Given the description of an element on the screen output the (x, y) to click on. 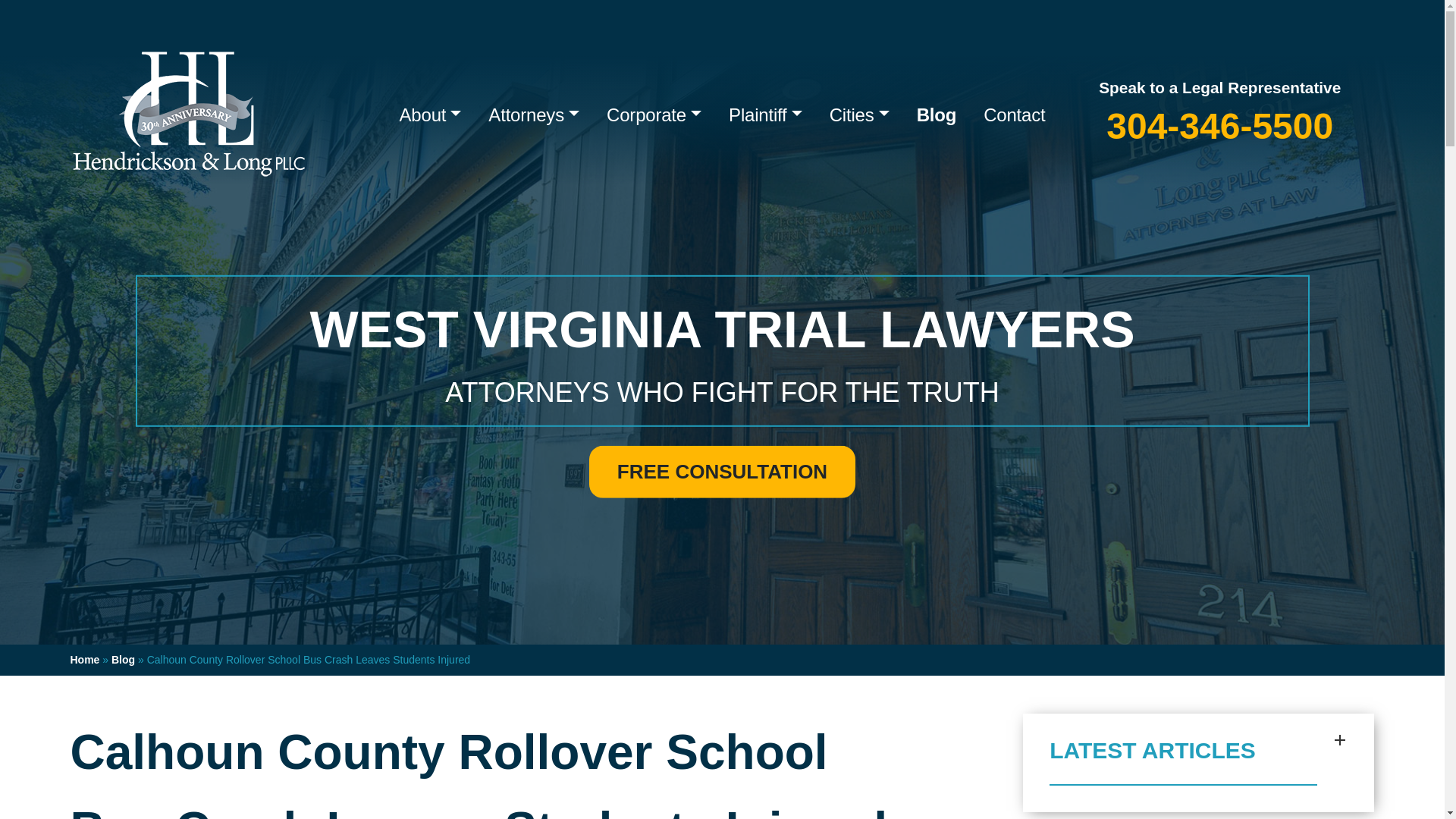
Plaintiff (764, 115)
Attorneys (533, 115)
Corporate (653, 115)
About (430, 115)
